Given the description of an element on the screen output the (x, y) to click on. 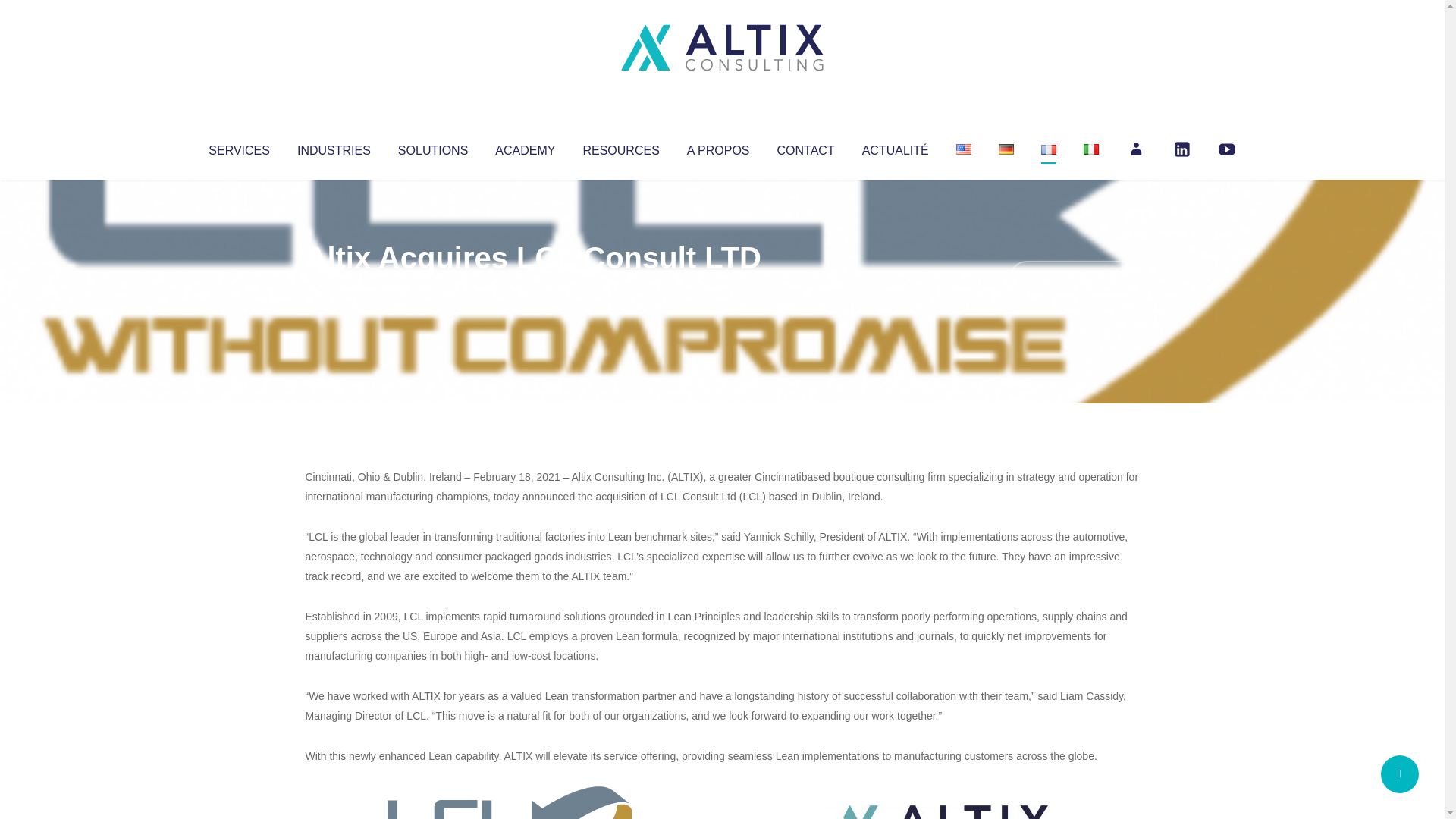
A PROPOS (718, 146)
RESOURCES (620, 146)
Uncategorized (530, 287)
INDUSTRIES (334, 146)
ACADEMY (524, 146)
Articles par Altix (333, 287)
SOLUTIONS (432, 146)
No Comments (1073, 278)
Altix (333, 287)
SERVICES (238, 146)
